Given the description of an element on the screen output the (x, y) to click on. 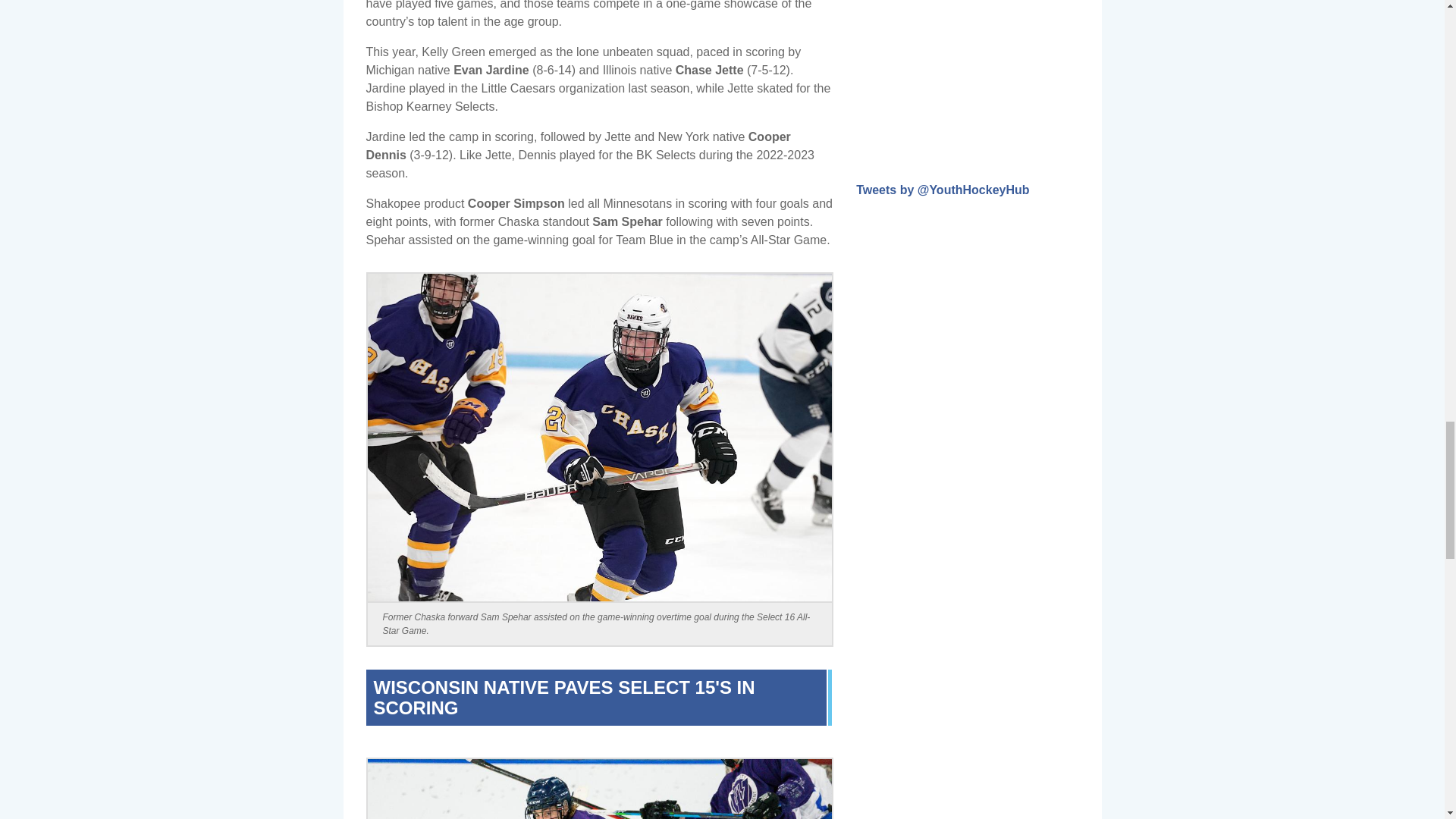
3rd party ad content (969, 67)
